Given the description of an element on the screen output the (x, y) to click on. 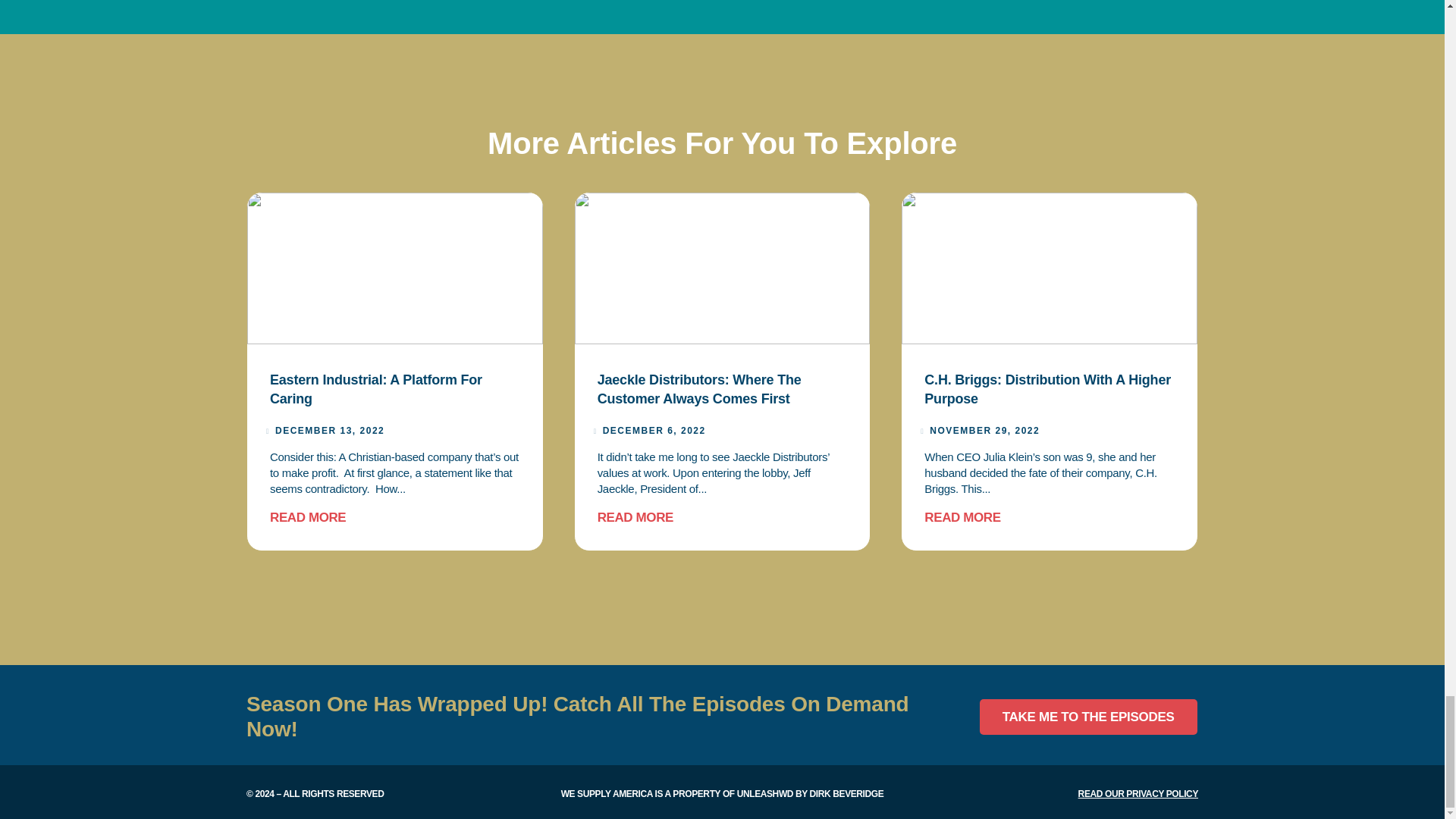
C.H. Briggs: Distribution with a Higher Purpose (1047, 389)
Jaeckle Distributors: Where the Customer Always Comes First (699, 389)
Eastern Industrial: A Platform for Caring (375, 389)
